Given the description of an element on the screen output the (x, y) to click on. 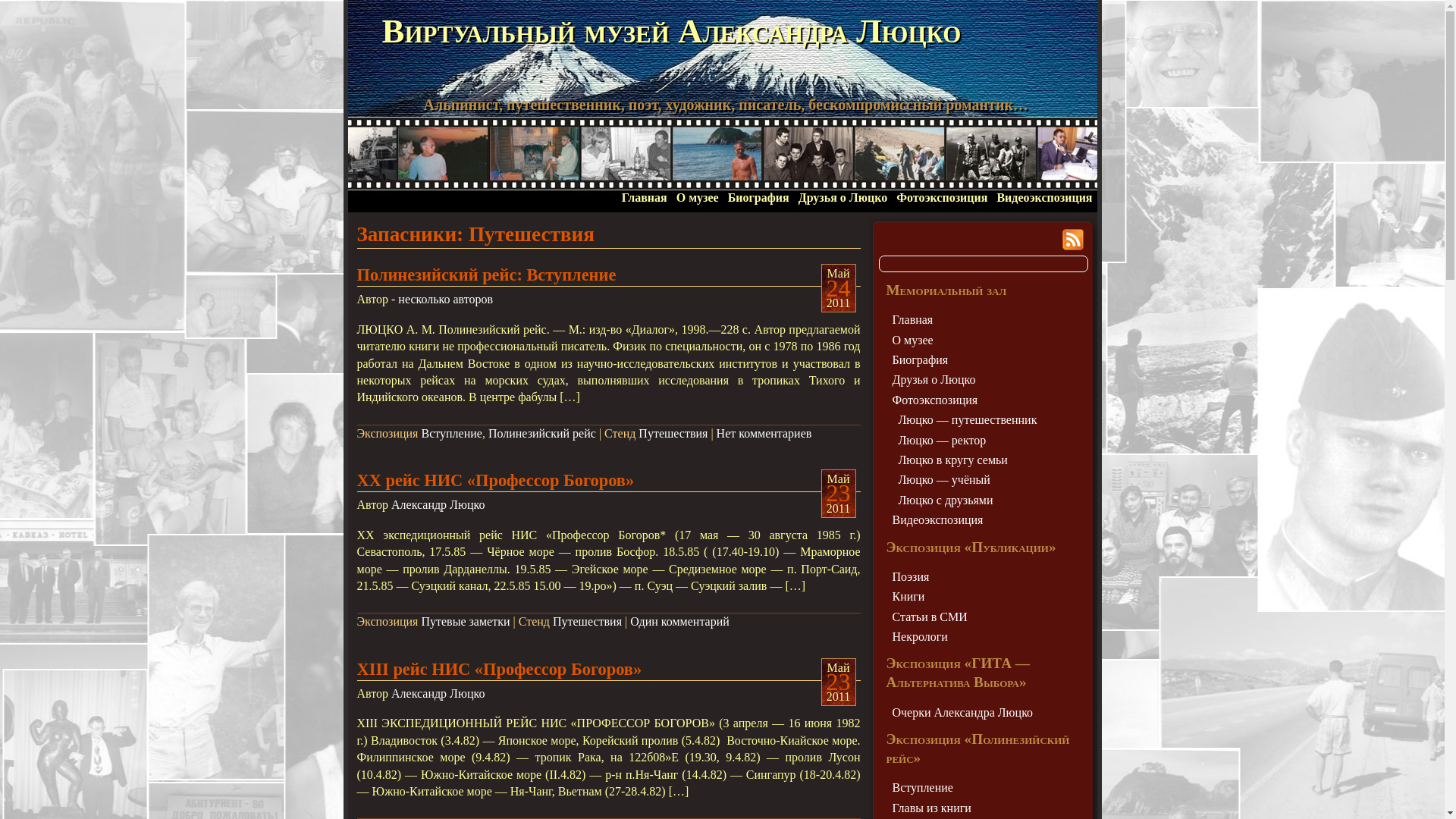
Syndicate this site using RSS Element type: hover (1071, 239)
